Given the description of an element on the screen output the (x, y) to click on. 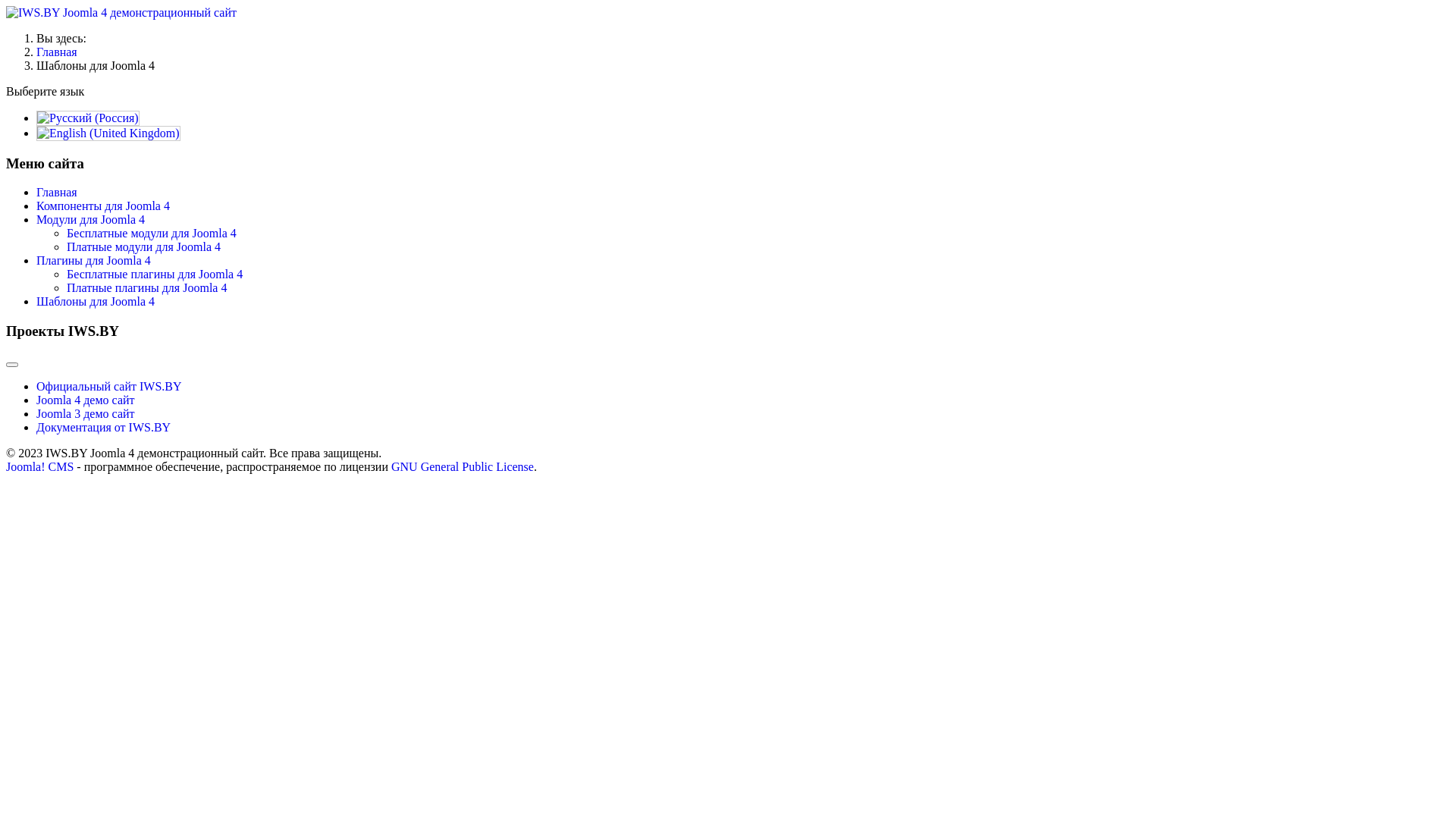
English (United Kingdom) Element type: hover (108, 133)
GNU General Public License Element type: text (462, 466)
Joomla! CMS Element type: text (39, 466)
